Given the description of an element on the screen output the (x, y) to click on. 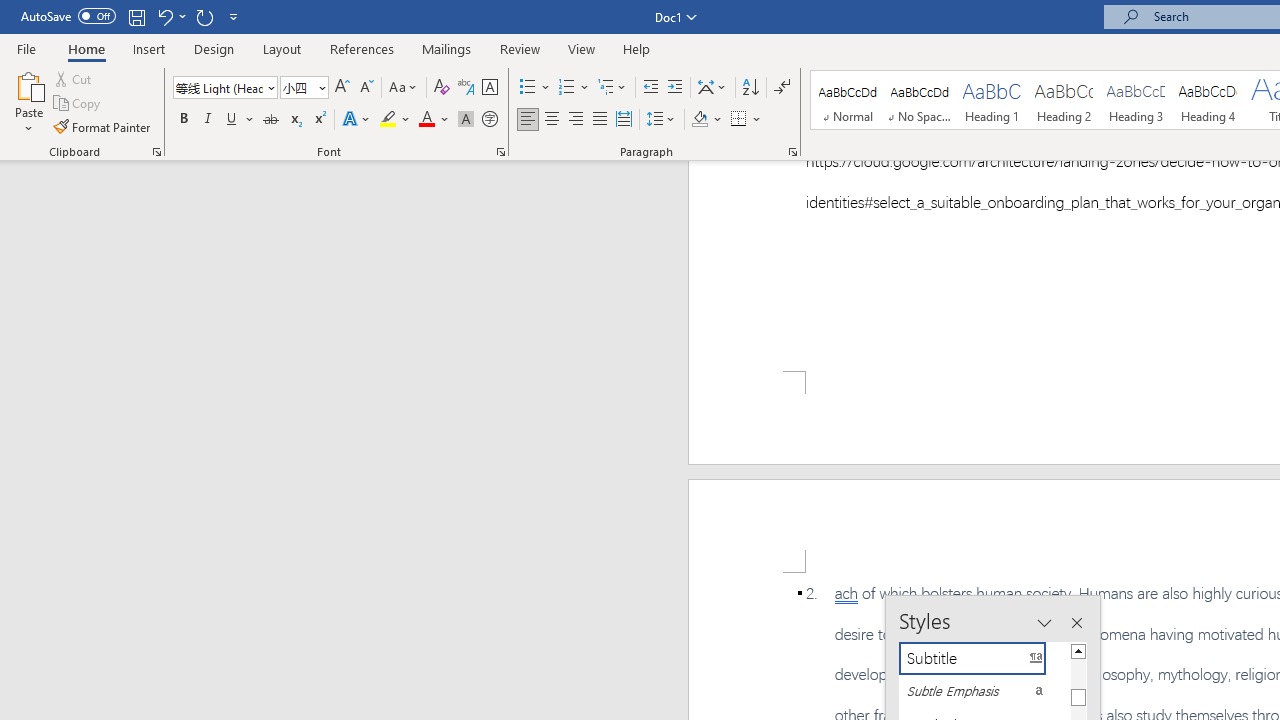
Open (320, 87)
Subtitle (984, 658)
Copy (78, 103)
Grow Font (342, 87)
Underline (239, 119)
Office Clipboard... (156, 151)
View (582, 48)
Numbering (566, 87)
Sort... (750, 87)
Paragraph... (792, 151)
